Given the description of an element on the screen output the (x, y) to click on. 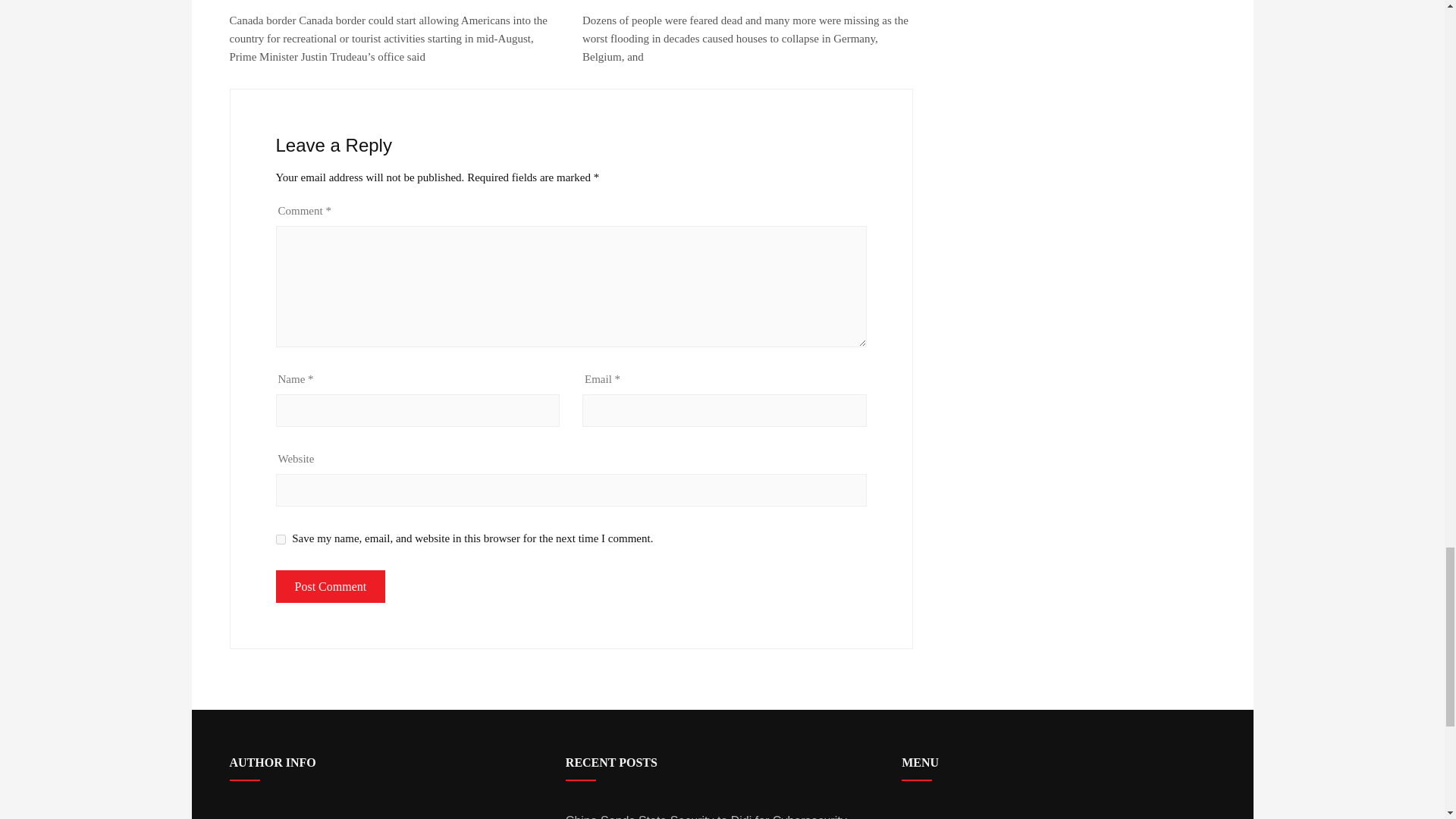
Post Comment (330, 586)
yes (280, 539)
Post Comment (330, 586)
